Given the description of an element on the screen output the (x, y) to click on. 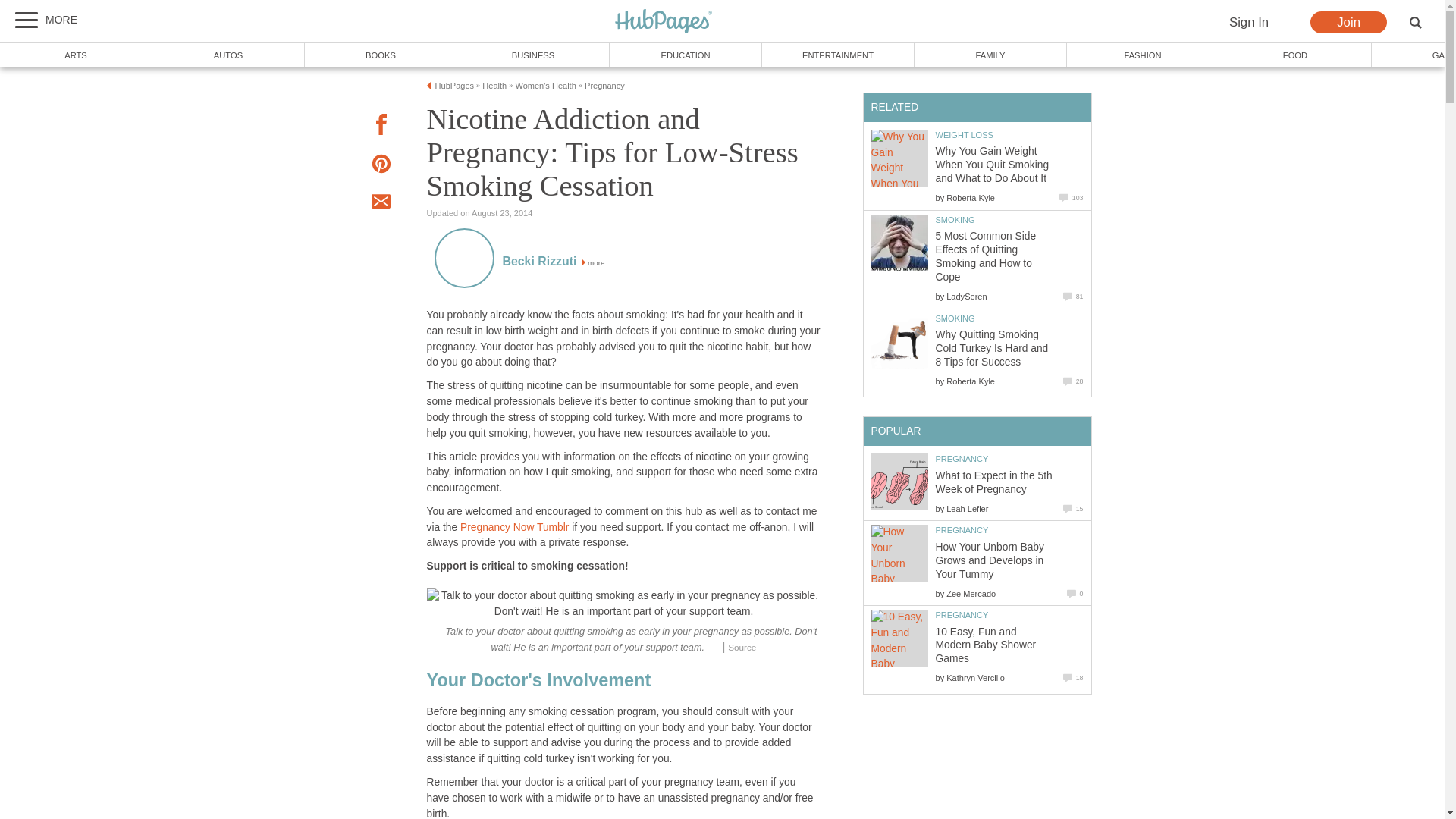
Email (380, 203)
FAMILY (990, 55)
EDUCATION (685, 55)
BOOKS (380, 55)
Pregnancy Now Tumblr (514, 527)
BUSINESS (533, 55)
HubPages (663, 22)
WEIGHT LOSS (964, 134)
Becki Rizzuti more (553, 262)
AUTOS (228, 55)
